Given the description of an element on the screen output the (x, y) to click on. 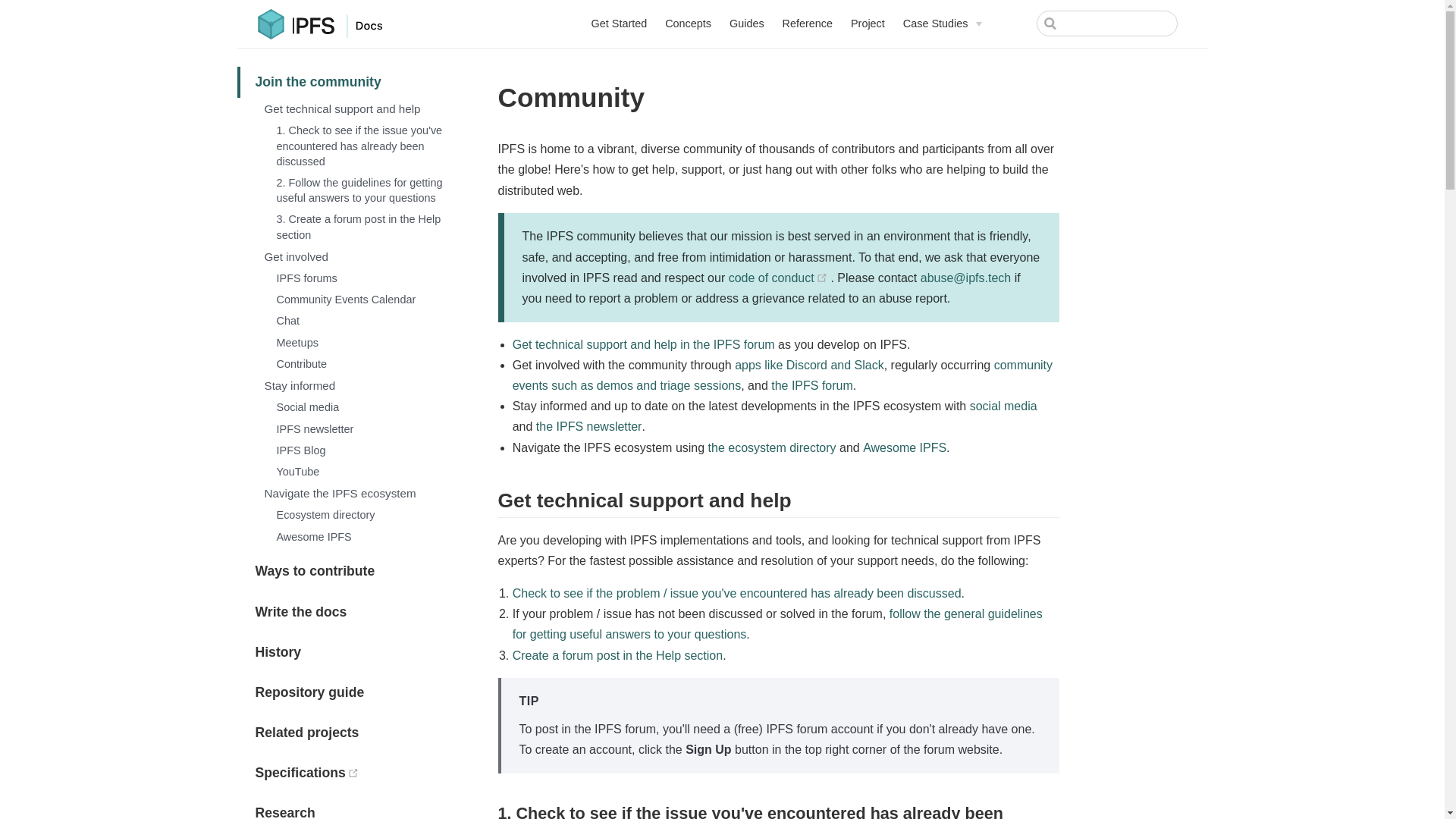
IPFS forums (361, 278)
Chat (361, 320)
Reference (807, 23)
Get Started (619, 23)
3. Create a forum post in the Help section (361, 226)
Community Events Calendar (361, 299)
Social media (361, 406)
Stay informed (355, 385)
IPFS Docs (341, 26)
Project (867, 23)
Get involved (355, 256)
Contribute (361, 363)
Join the community (349, 81)
Meetups (361, 342)
